Given the description of an element on the screen output the (x, y) to click on. 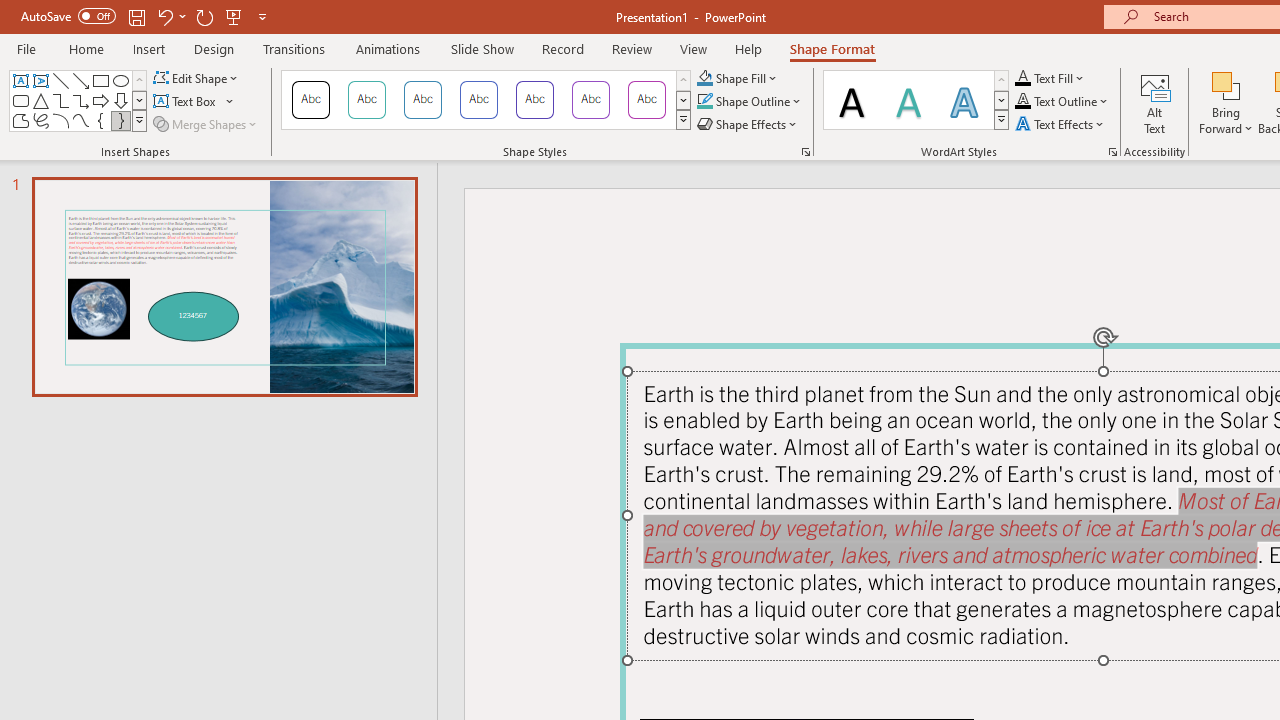
Insert (149, 48)
More Options (1225, 121)
AutomationID: TextStylesGallery (916, 99)
Arc (60, 120)
Freeform: Shape (20, 120)
Isosceles Triangle (40, 100)
Colored Outline - Black, Dark 1 (310, 100)
Alt Text (1155, 102)
Colored Outline - Aqua, Accent 2 (422, 100)
Merge Shapes (206, 124)
AutoSave (68, 16)
System (10, 11)
Animations (388, 48)
Record (562, 48)
